Given the description of an element on the screen output the (x, y) to click on. 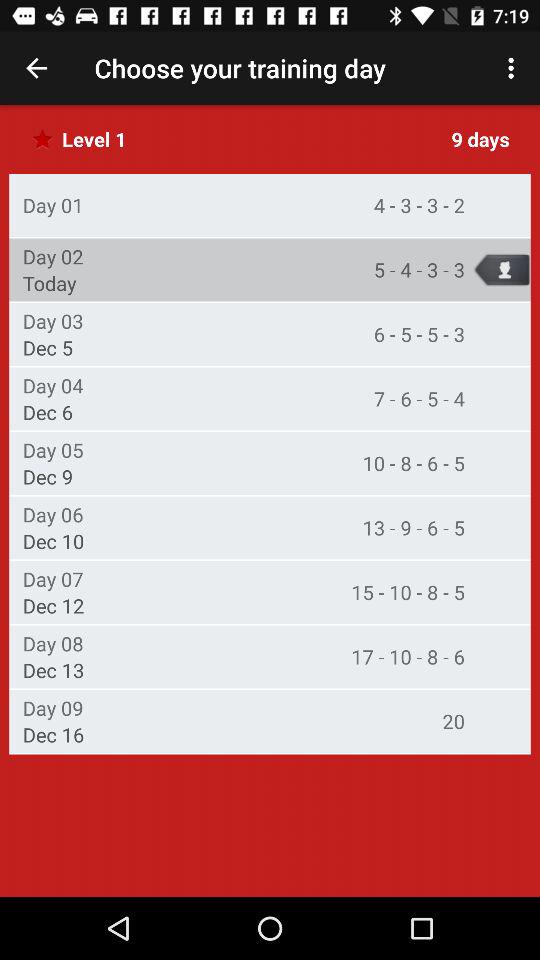
select icon next to 6 5 5 icon (52, 320)
